Given the description of an element on the screen output the (x, y) to click on. 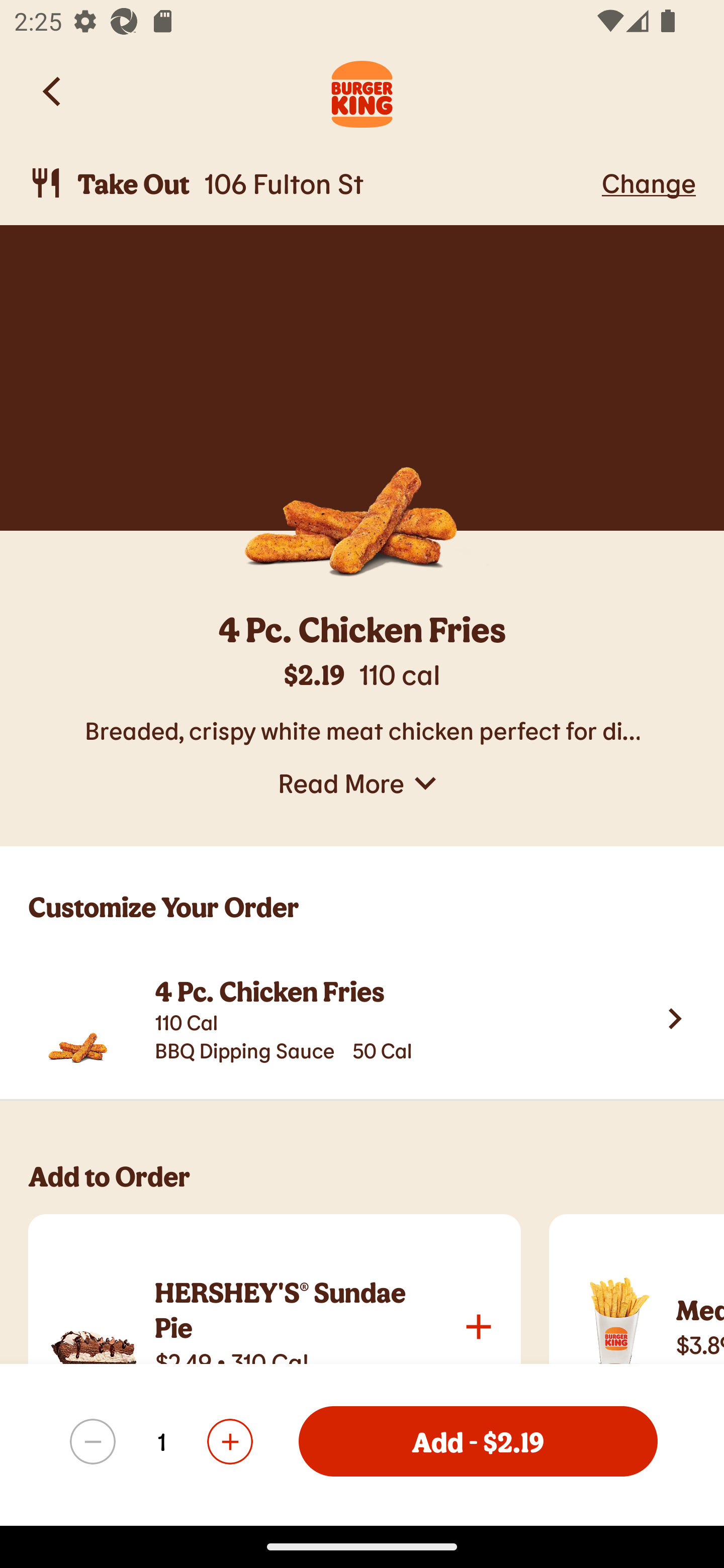
Burger King Logo. Navigate to Home (362, 91)
Back (52, 91)
Take Out, 106 Fulton St  Take Out 106 Fulton St (311, 183)
Change (648, 182)
4 Pc. Chicken Fries (361, 631)
$2.19 110 Cal $2.19 110 cal (361, 683)
Read More,  Read More  (361, 783)
Customize Your Order (362, 891)
Add to Order (376, 1185)
Quantity 1 of 4 Pc. Chicken Fries 1 (161, 1440)
decrement-4 Pc. Chicken Fries  (92, 1441)
increment-4 Pc. Chicken Fries  (229, 1441)
